Given the description of an element on the screen output the (x, y) to click on. 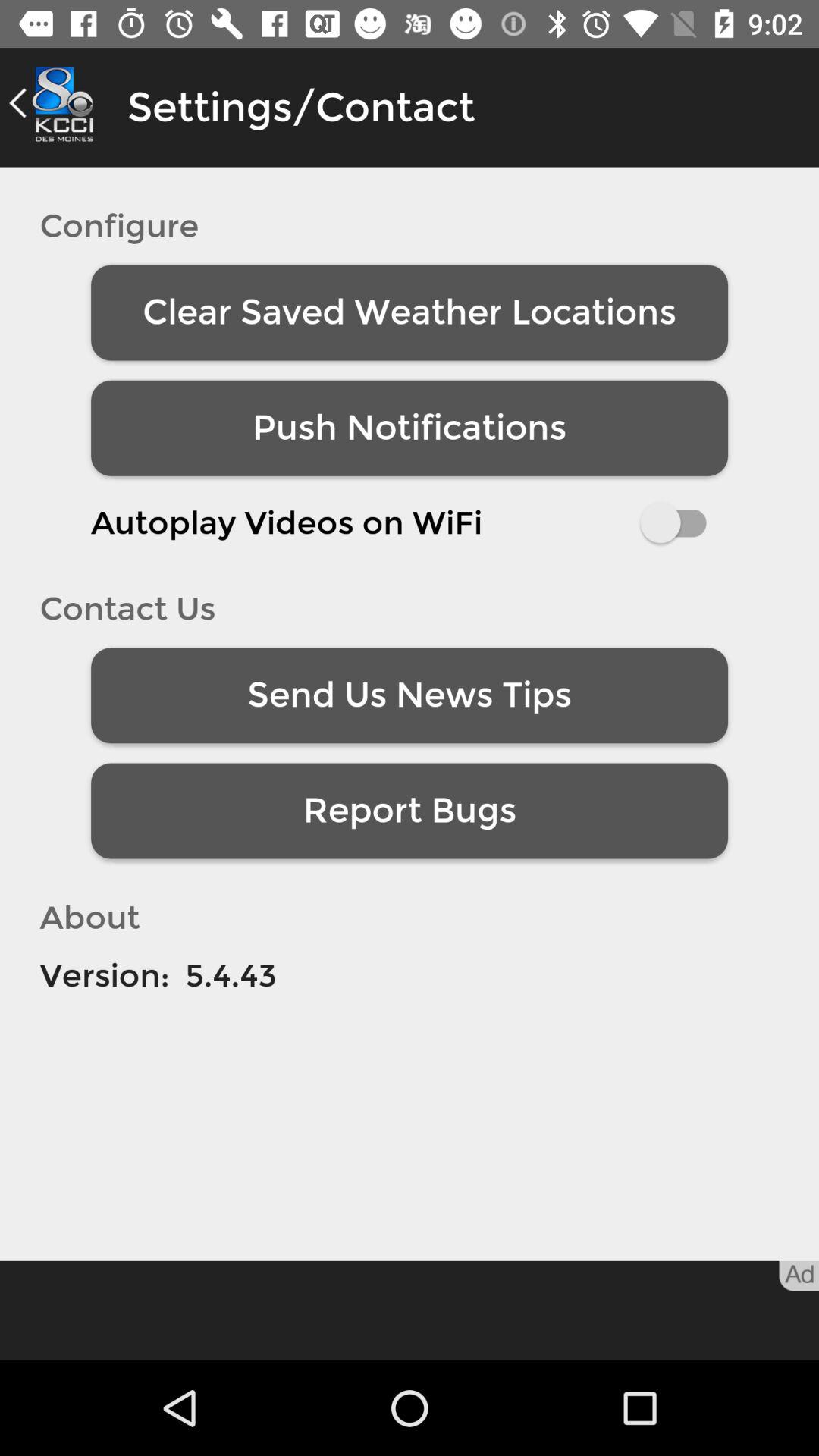
jump until the report bugs item (409, 810)
